Given the description of an element on the screen output the (x, y) to click on. 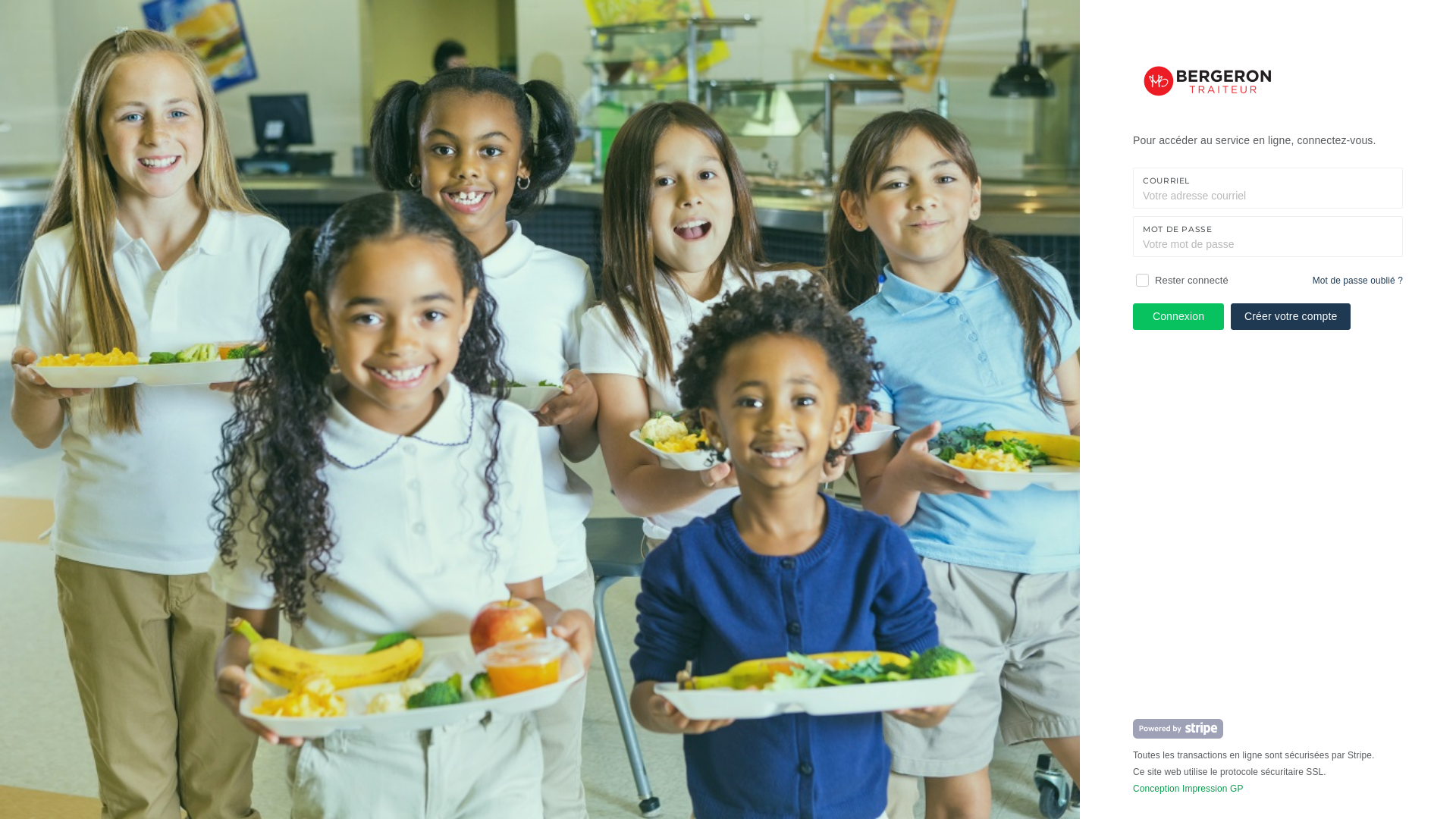
Connexion Element type: text (1177, 316)
Conception Impression GP Element type: text (1187, 788)
